Given the description of an element on the screen output the (x, y) to click on. 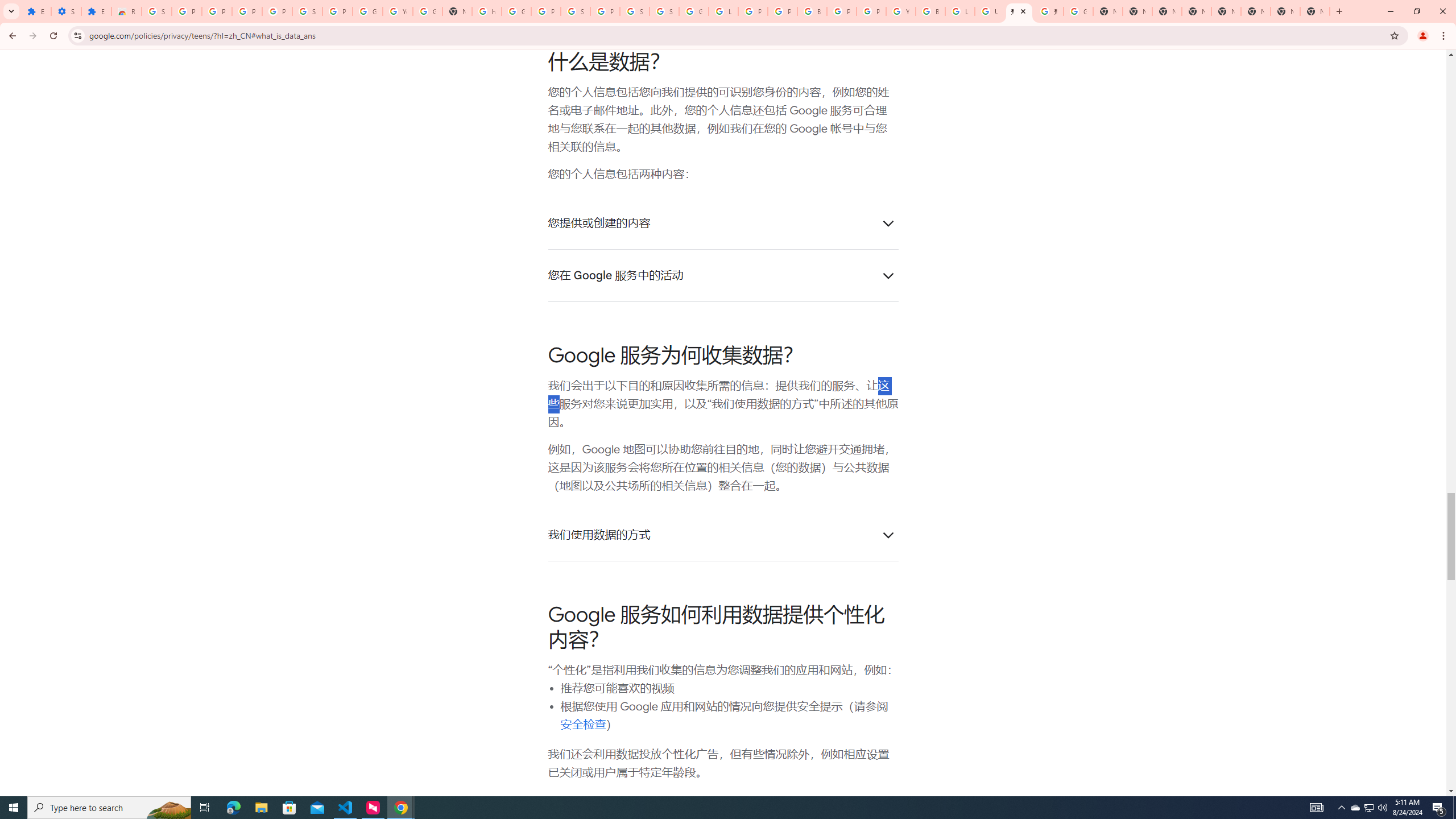
Sign in - Google Accounts (664, 11)
New Tab (1255, 11)
Reviews: Helix Fruit Jump Arcade Game (126, 11)
Google Account (367, 11)
Sign in - Google Accounts (634, 11)
